Given the description of an element on the screen output the (x, y) to click on. 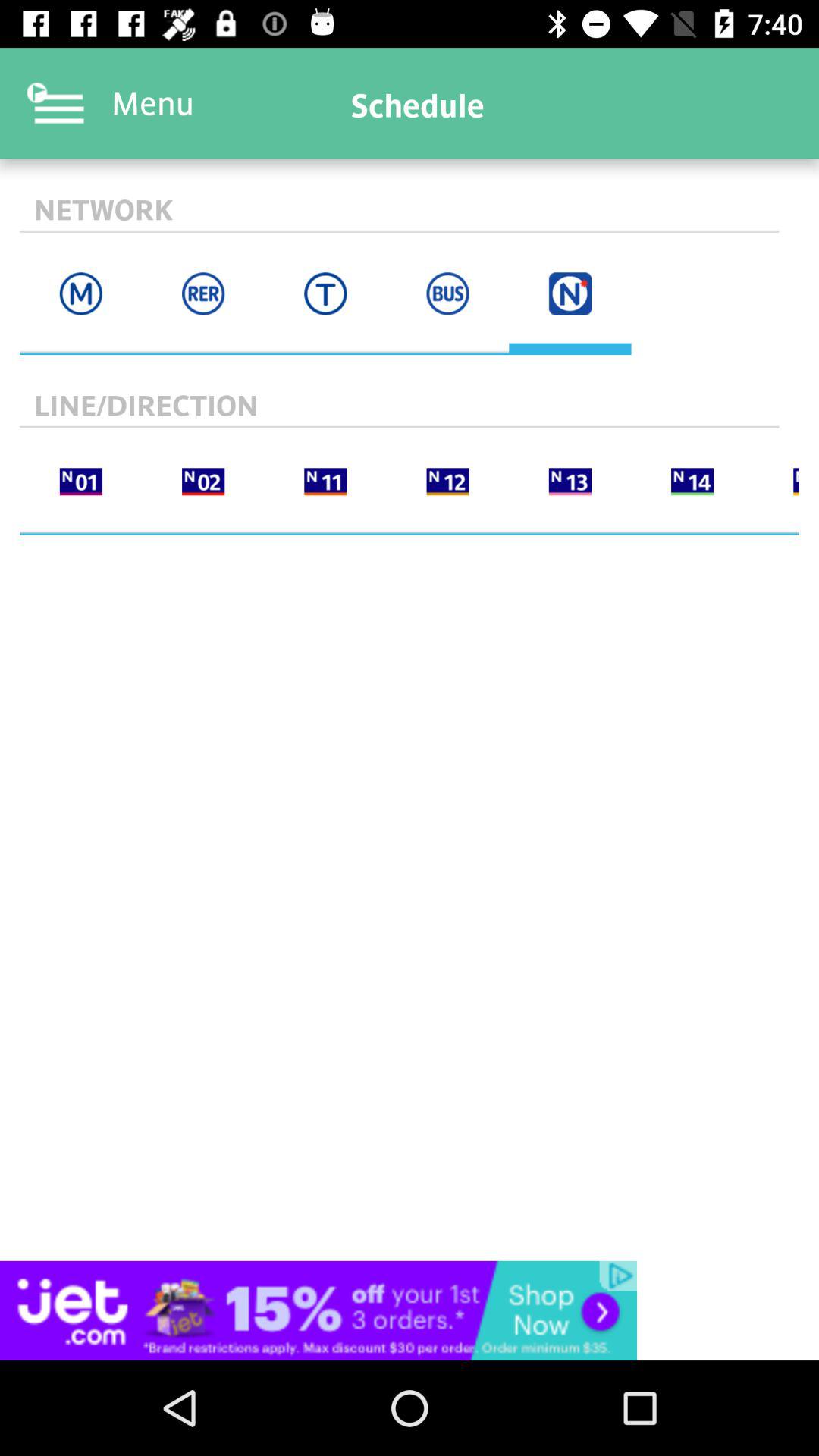
advertisement box (409, 1310)
